Given the description of an element on the screen output the (x, y) to click on. 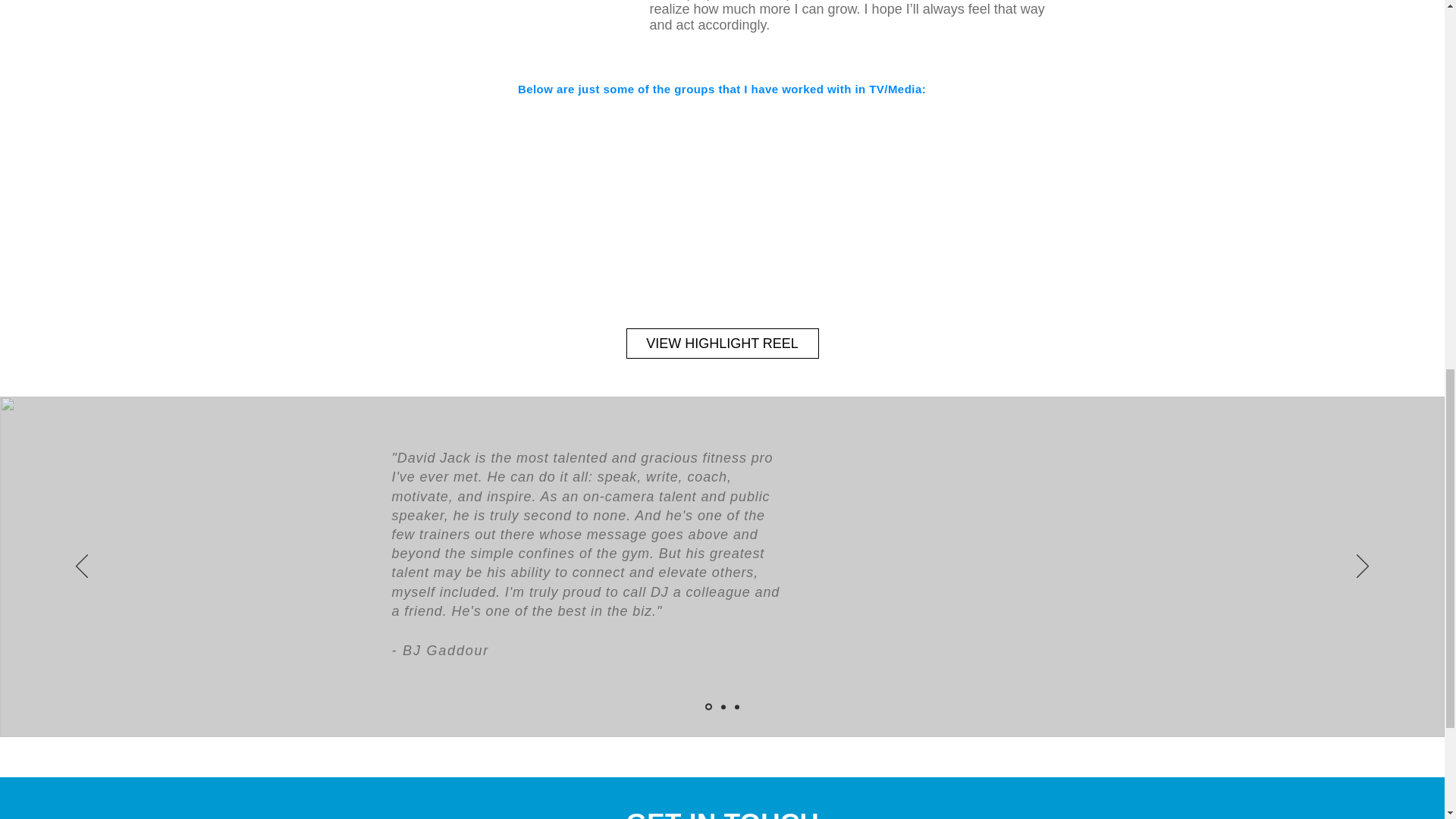
VIEW HIGHLIGHT REEL (722, 343)
